Given the description of an element on the screen output the (x, y) to click on. 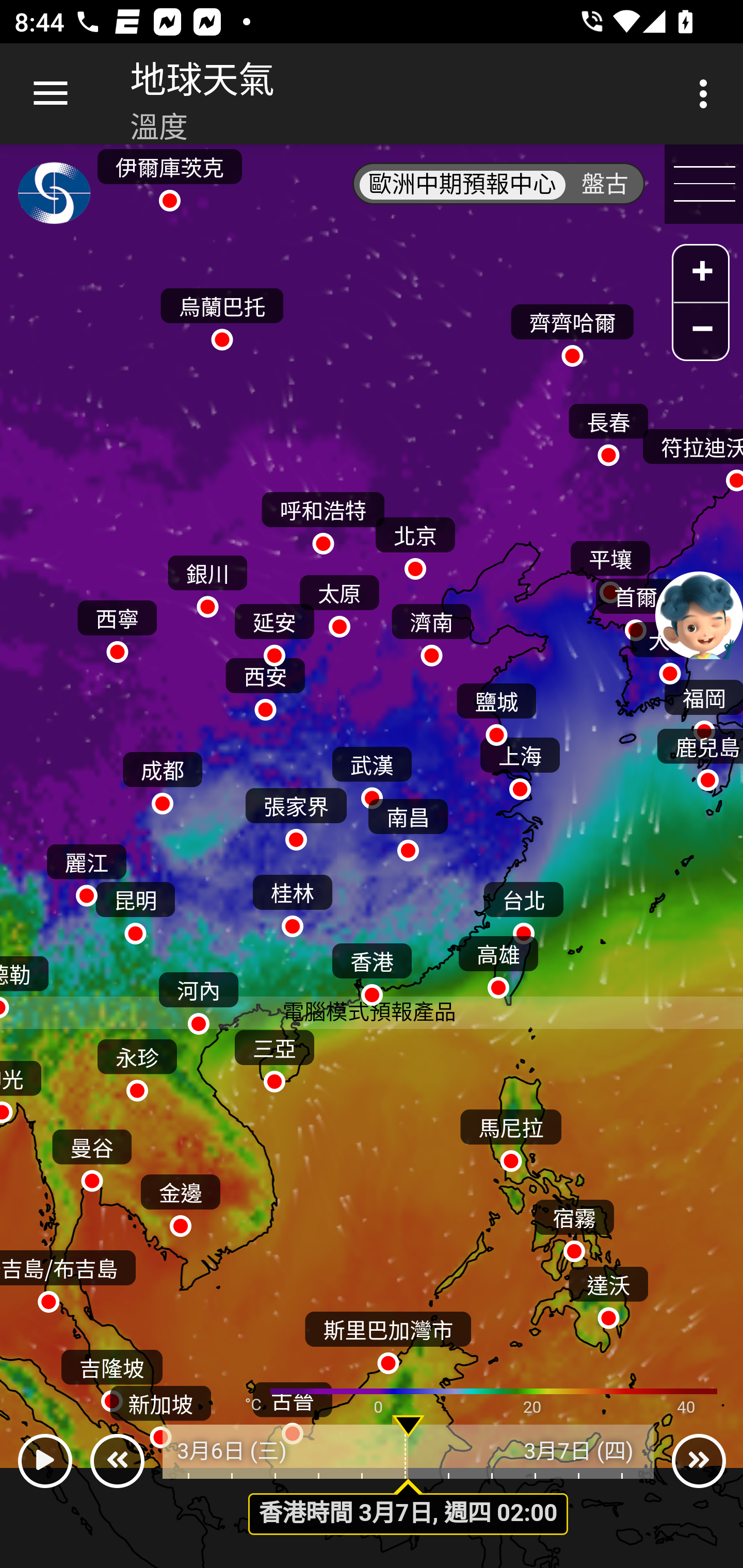
向上瀏覽 (50, 93)
更多選項 (706, 93)
香港天文台 (54, 197)
菜單按鈕 (703, 184)
伊爾庫茨克 (169, 174)
歐洲中期預報中心 (461, 184)
盤古 (604, 184)
Zoom in (700, 275)
烏蘭巴托 (222, 314)
齊齊哈爾 (572, 330)
Zoom out (700, 331)
長春 (608, 429)
符拉迪沃斯托克 (691, 456)
呼和浩特 (323, 518)
北京 (414, 543)
平壤 (609, 567)
銀川 (207, 581)
聊天機械人 (699, 614)
太原 (338, 600)
首爾 (634, 604)
西寧 (117, 625)
延安 (273, 629)
濟南 (431, 629)
大邱 (669, 647)
西安 (264, 683)
福岡 (702, 705)
鹽城 (495, 709)
鹿兒島 (699, 755)
上海 (519, 763)
武漢 (371, 772)
成都 (161, 778)
張家界 (295, 815)
南昌 (407, 825)
麗江 (85, 870)
桂林 (292, 901)
昆明 (134, 908)
台北 (523, 908)
高雄 (497, 962)
香港 (371, 970)
河內 (197, 998)
三亞 (273, 1055)
永珍 (136, 1066)
馬尼拉 (510, 1134)
曼谷 (91, 1155)
金邊 (180, 1199)
宿霧 (573, 1224)
達沃 (608, 1293)
斯里巴加灣市 (388, 1337)
吉隆坡 (111, 1376)
古晉 (292, 1408)
新加坡 (160, 1412)
3月6日 (三) 3月7日 (四) (408, 1451)
 (44, 1461)
上一時段 (117, 1461)
下一時段 (699, 1461)
